Given the description of an element on the screen output the (x, y) to click on. 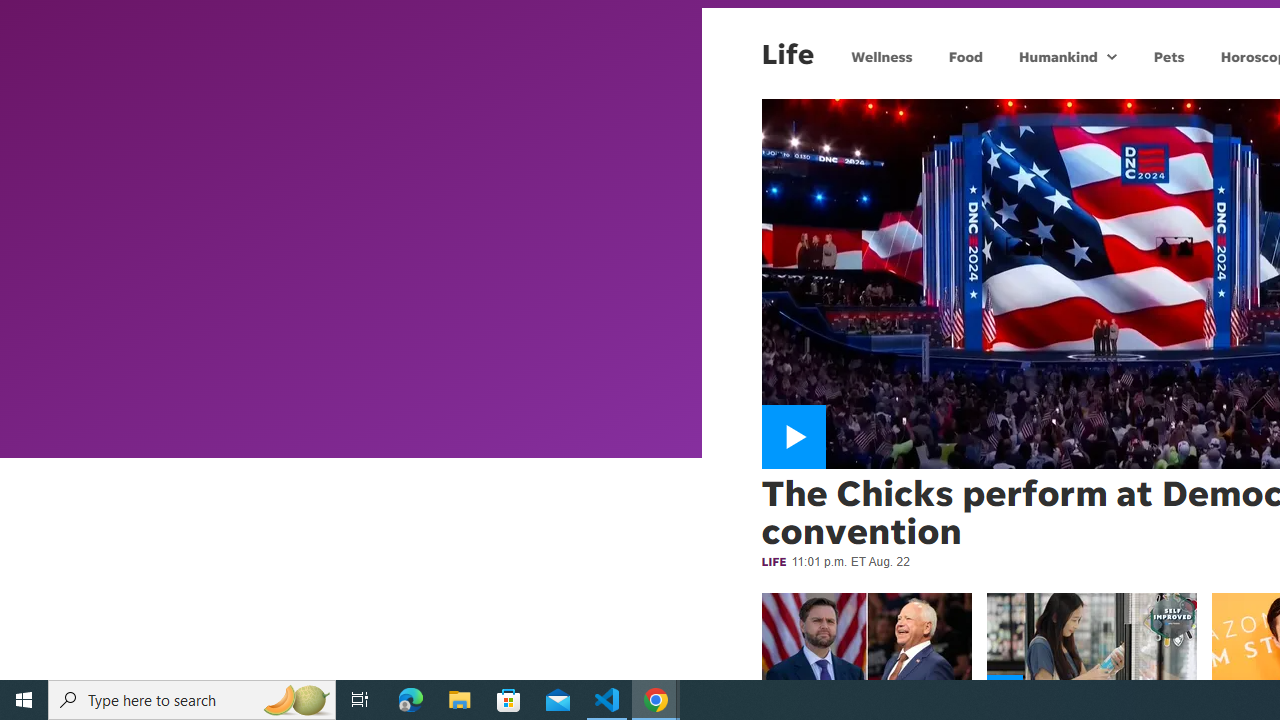
Humankind (1055, 56)
Task View (359, 699)
Visual Studio Code - 1 running window (607, 699)
Type here to search (191, 699)
File Explorer (460, 699)
Search highlights icon opens search home window (295, 699)
Microsoft Edge (411, 699)
Food (965, 56)
Pets (1168, 56)
More Humankind navigation (1111, 56)
Google Chrome - 2 running windows (656, 699)
Microsoft Store (509, 699)
Wellness (881, 56)
